Given the description of an element on the screen output the (x, y) to click on. 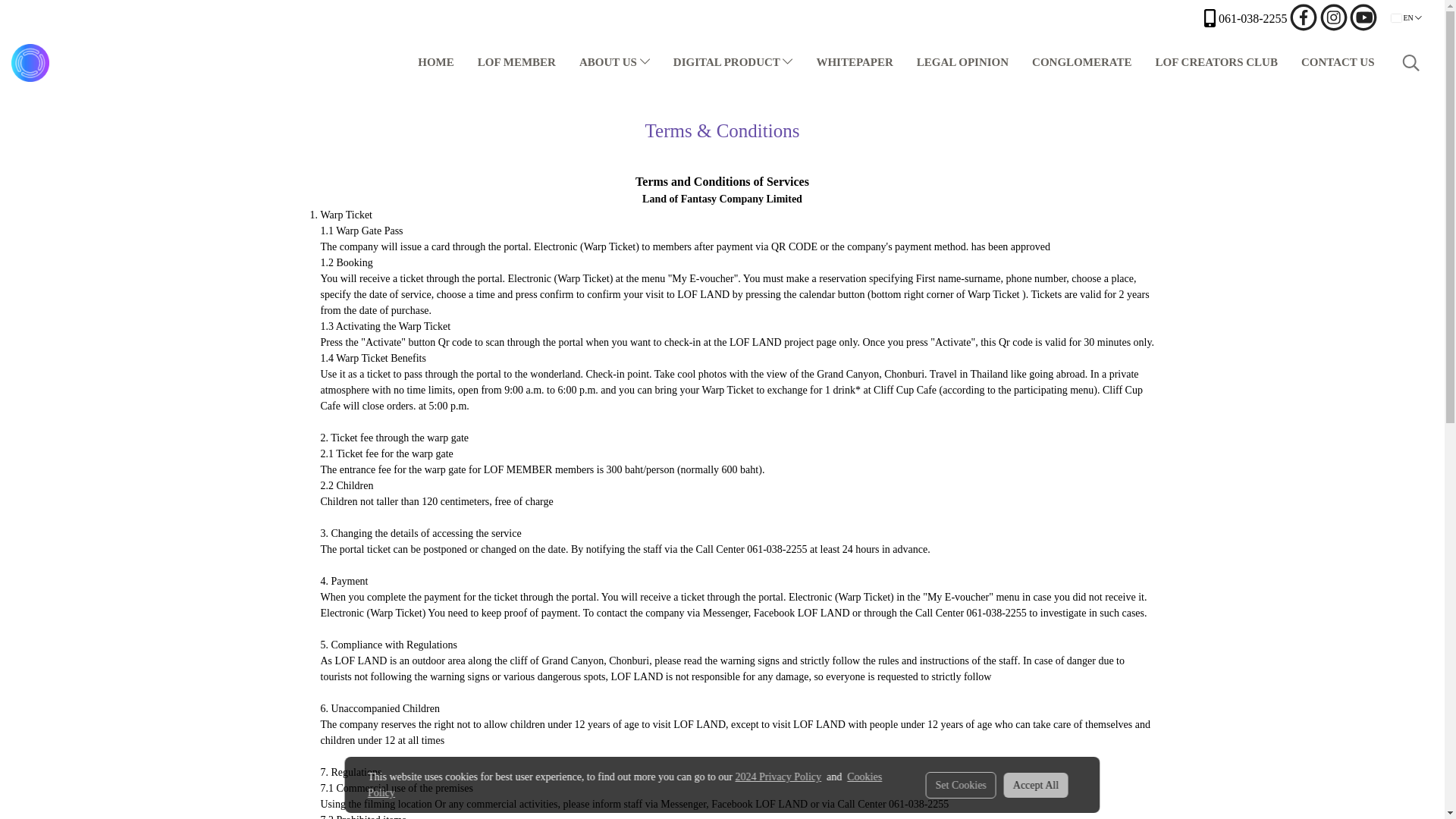
LEGAL OPINION (962, 62)
LOF MEMBER (516, 62)
CONGLOMERATE (1081, 62)
DIGITAL PRODUCT (733, 62)
LOF CREATORS CLUB (1216, 62)
EN (1406, 18)
HOME (435, 62)
061-038-2255 (1245, 18)
CONTACT US (1338, 62)
ABOUT US (614, 62)
logo (30, 62)
WHITEPAPER (854, 62)
